Given the description of an element on the screen output the (x, y) to click on. 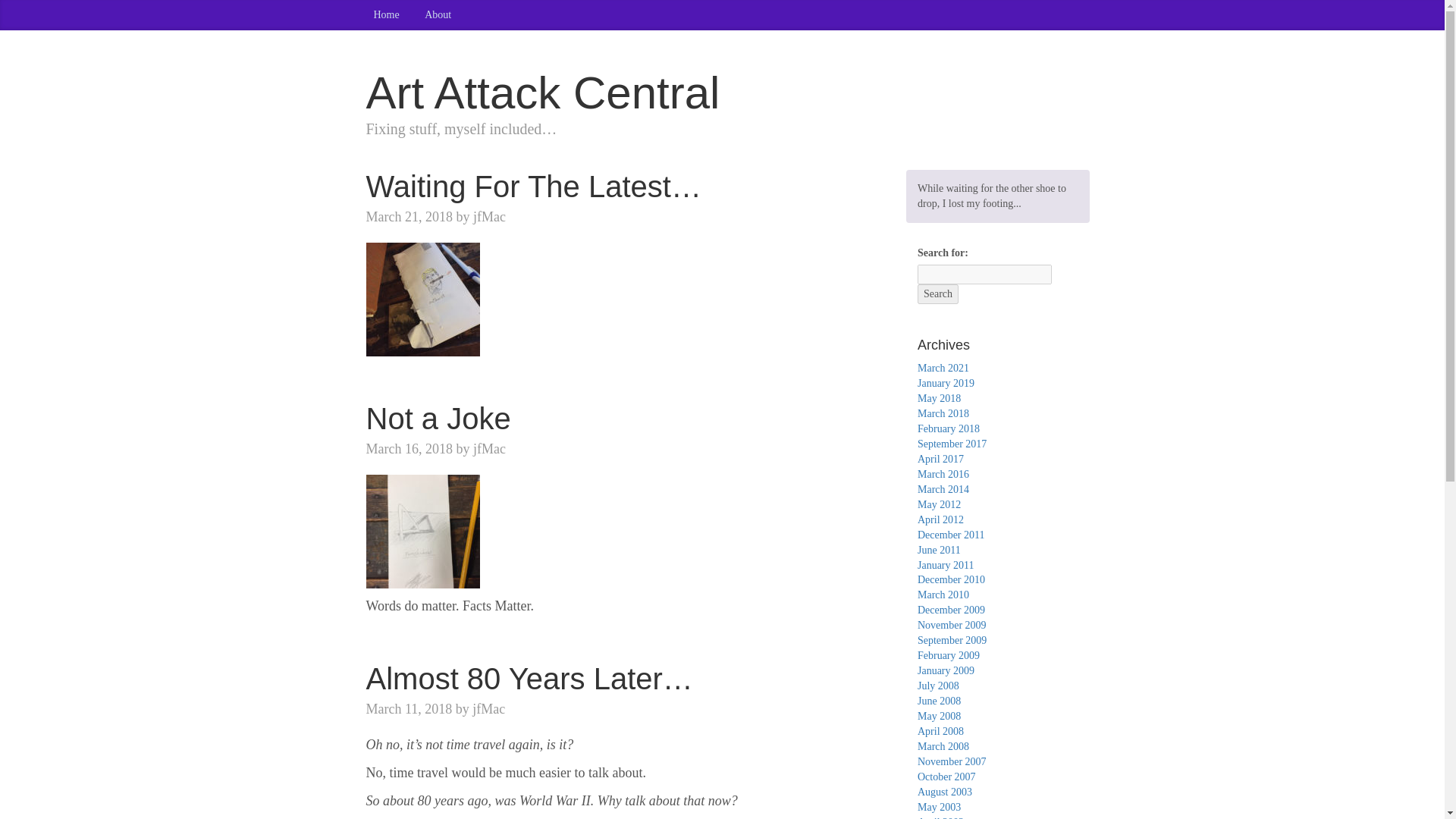
January 2019 (945, 383)
May 2003 (938, 807)
June 2011 (938, 550)
May 2012 (938, 504)
January 2011 (945, 564)
May 2018 (938, 398)
October 2007 (946, 776)
March 2016 (943, 473)
About (437, 15)
February 2018 (948, 428)
